Given the description of an element on the screen output the (x, y) to click on. 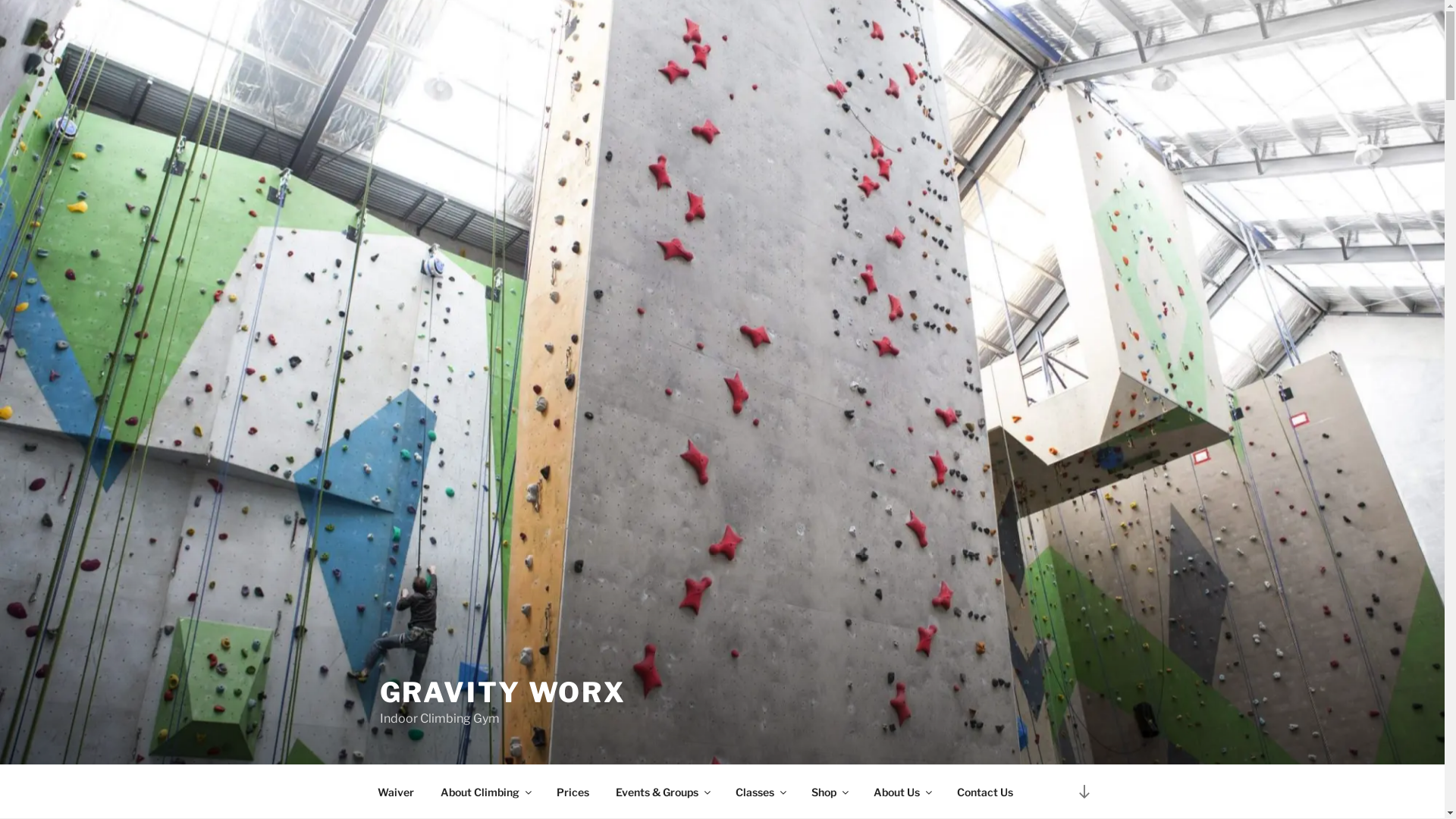
Shop Element type: text (828, 791)
About Us Element type: text (901, 791)
Events & Groups Element type: text (661, 791)
Classes Element type: text (759, 791)
Waiver Element type: text (395, 791)
Prices Element type: text (572, 791)
Scroll down to content Element type: text (1083, 790)
About Climbing Element type: text (485, 791)
GRAVITY WORX Element type: text (502, 692)
Contact Us Element type: text (984, 791)
